Given the description of an element on the screen output the (x, y) to click on. 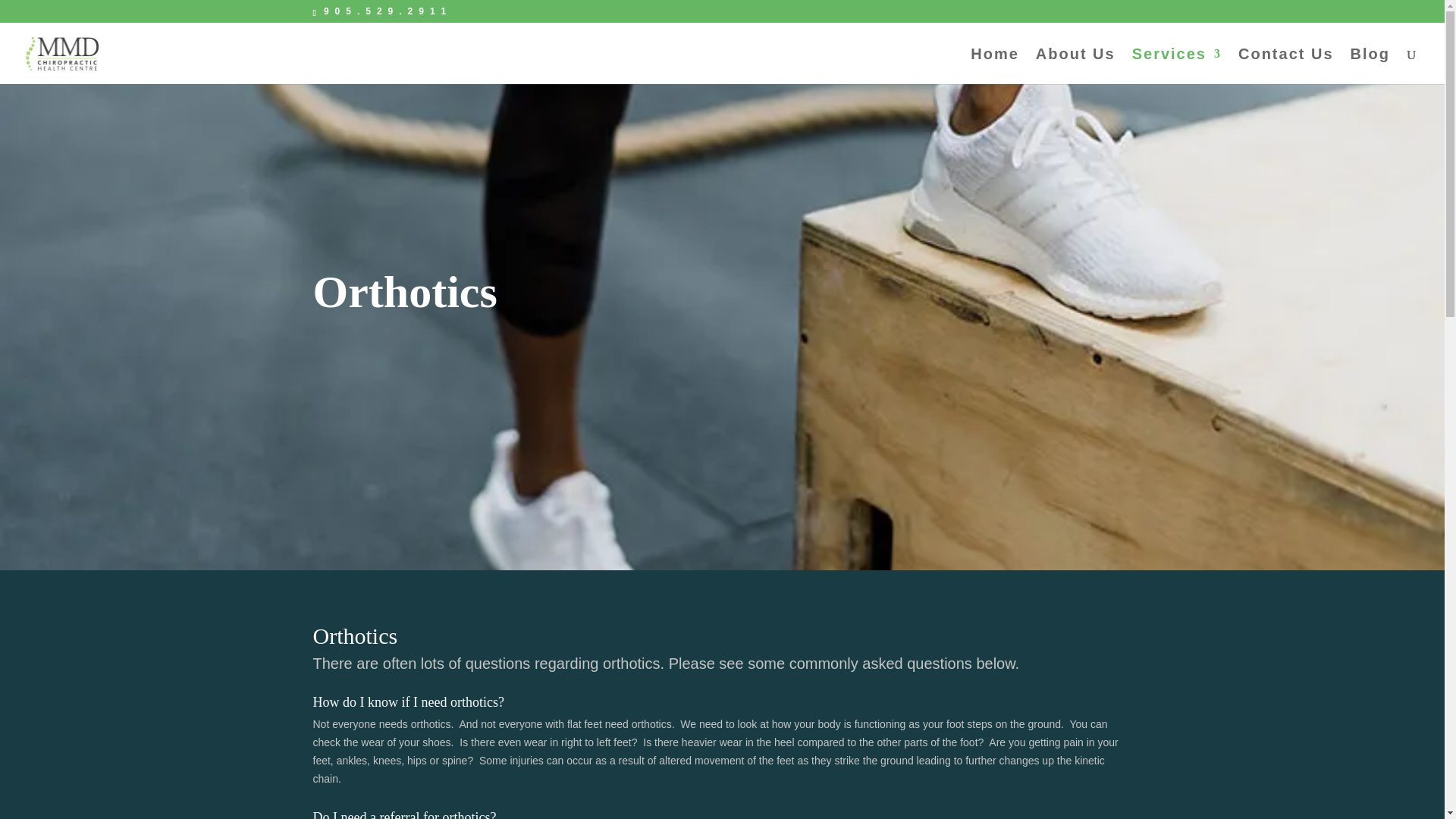
Home (995, 66)
Contact Us (1286, 66)
Services (1176, 66)
About Us (1075, 66)
Blog (1370, 66)
